Given the description of an element on the screen output the (x, y) to click on. 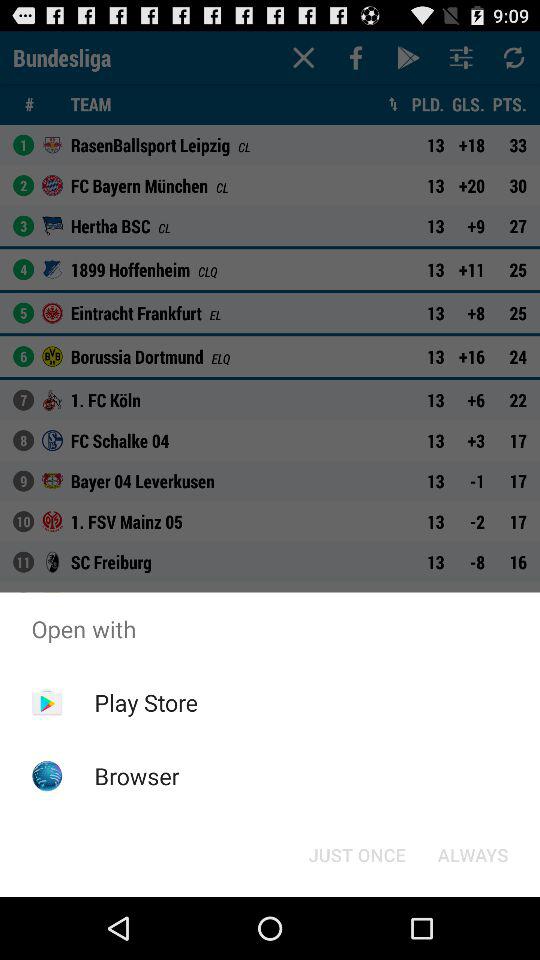
swipe until the always button (472, 854)
